Given the description of an element on the screen output the (x, y) to click on. 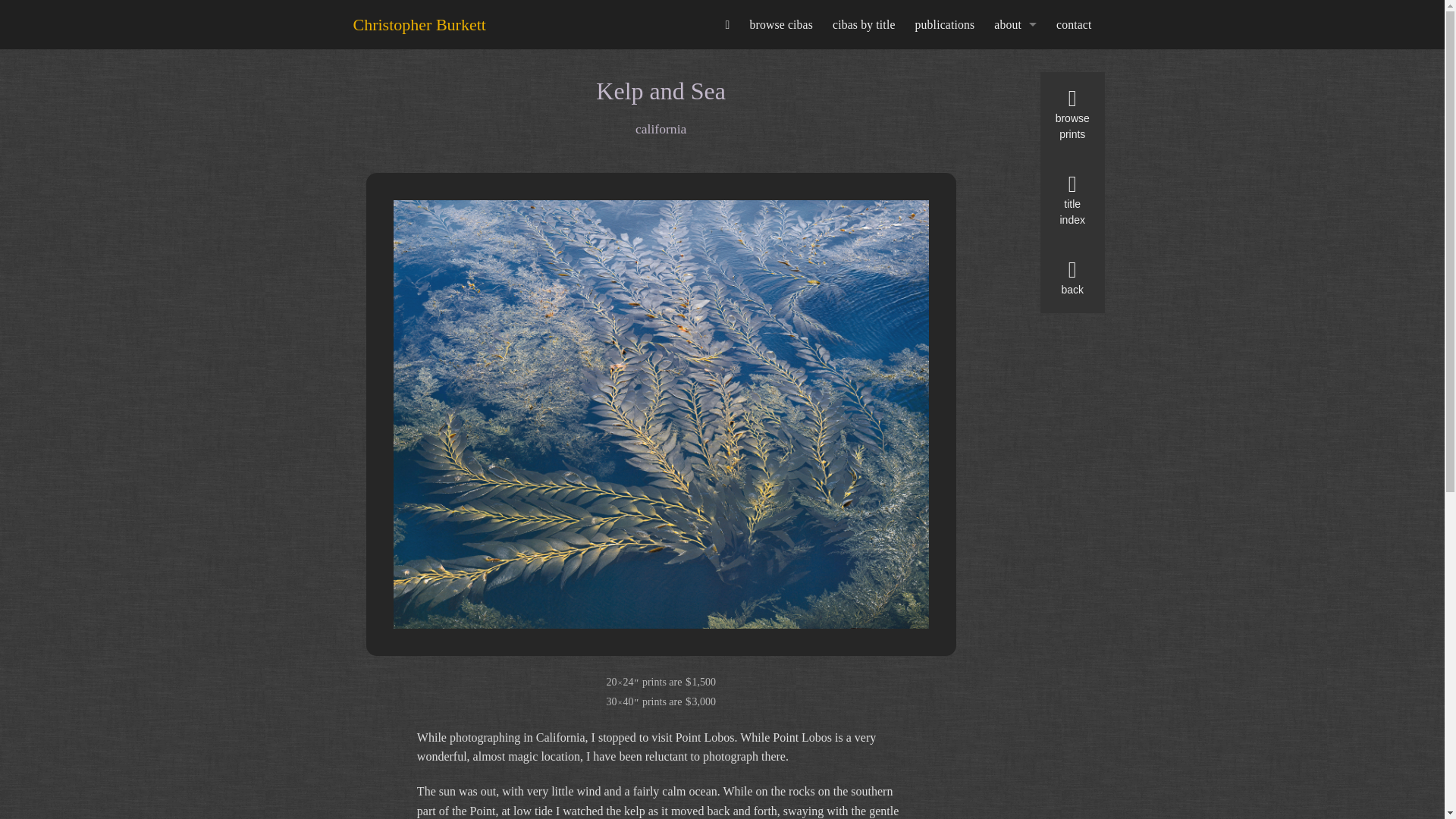
title index (1073, 200)
back (1073, 277)
browse prints (1073, 115)
museum cibas (1015, 138)
Christopher Burkett (418, 24)
about the artist (1015, 62)
about (1015, 24)
galleries (1015, 189)
publications (945, 24)
contact (1073, 24)
about our cibas (1015, 163)
cibas by title (863, 24)
browse cibas (781, 24)
price list (1015, 112)
